Given the description of an element on the screen output the (x, y) to click on. 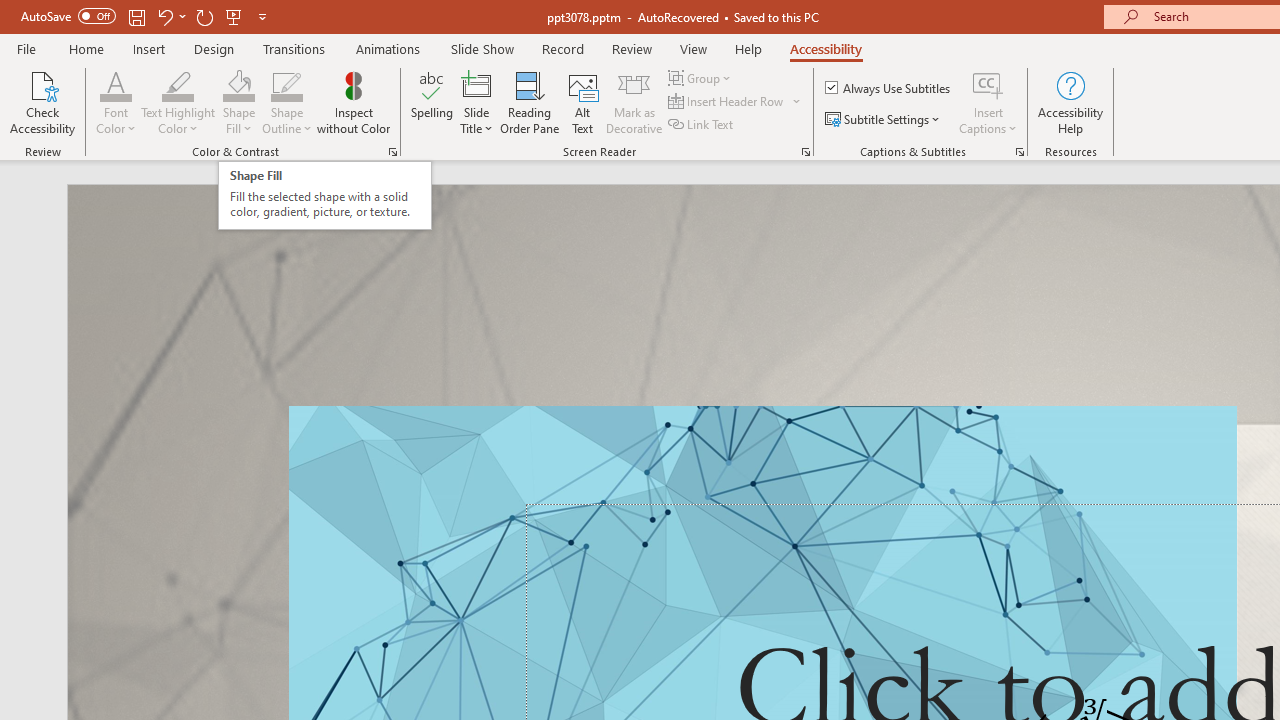
Mark as Decorative (634, 102)
Always Use Subtitles (889, 87)
Group (701, 78)
Shape Outline (286, 84)
Insert Captions (988, 84)
Accessibility Help (1070, 102)
Insert Captions (988, 102)
Screen Reader (805, 151)
